Given the description of an element on the screen output the (x, y) to click on. 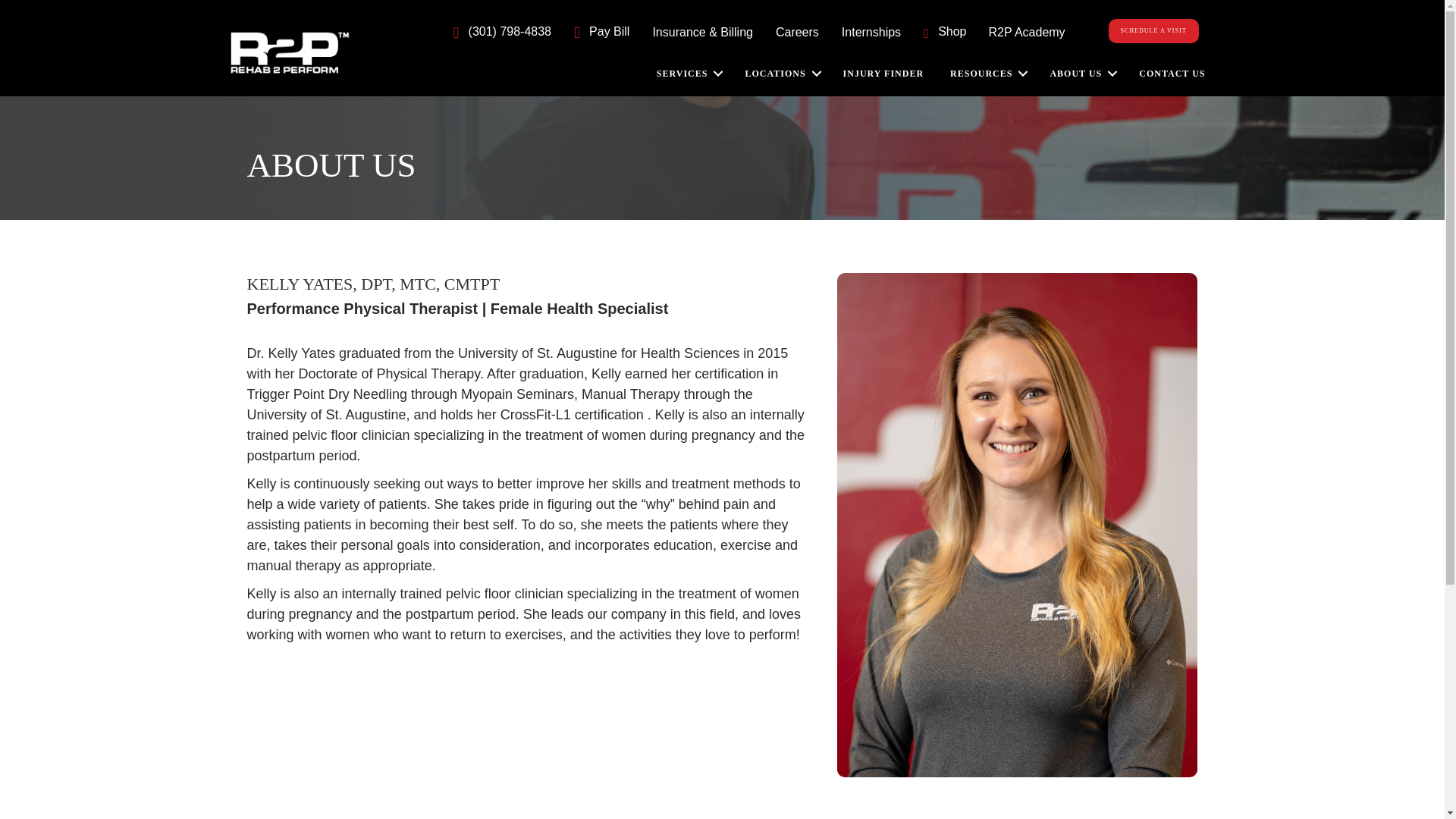
SERVICES (689, 73)
Shop (944, 32)
RESOURCES (987, 73)
Pay Bill (601, 31)
R2P Academy (1026, 32)
INJURY FINDER (884, 73)
logo-22-9-21 (289, 53)
Careers (796, 32)
SCHEDULE A VISIT (1153, 30)
Internships (870, 32)
LOCATIONS (781, 73)
